Given the description of an element on the screen output the (x, y) to click on. 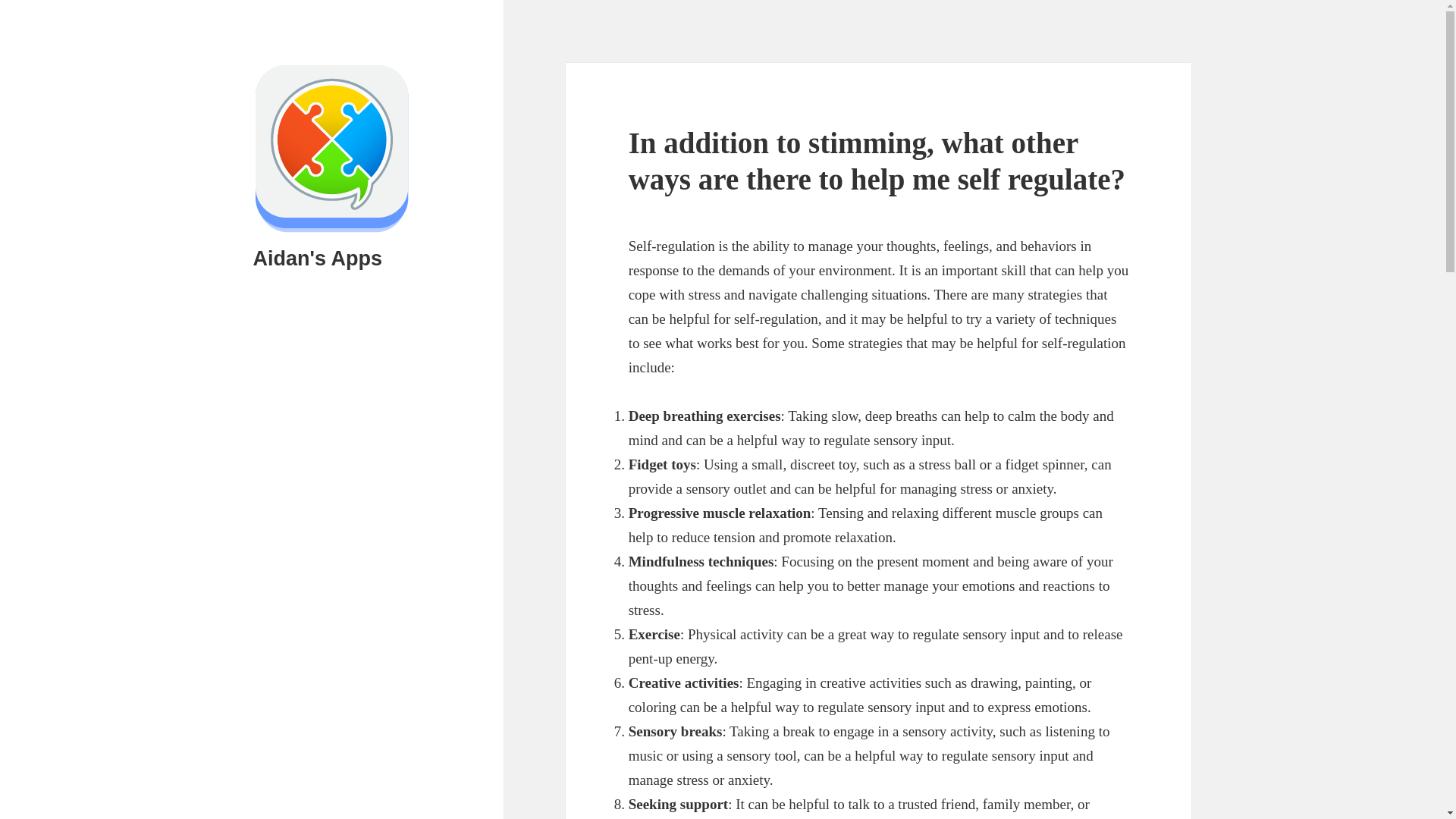
Aidan's Apps (317, 258)
